Given the description of an element on the screen output the (x, y) to click on. 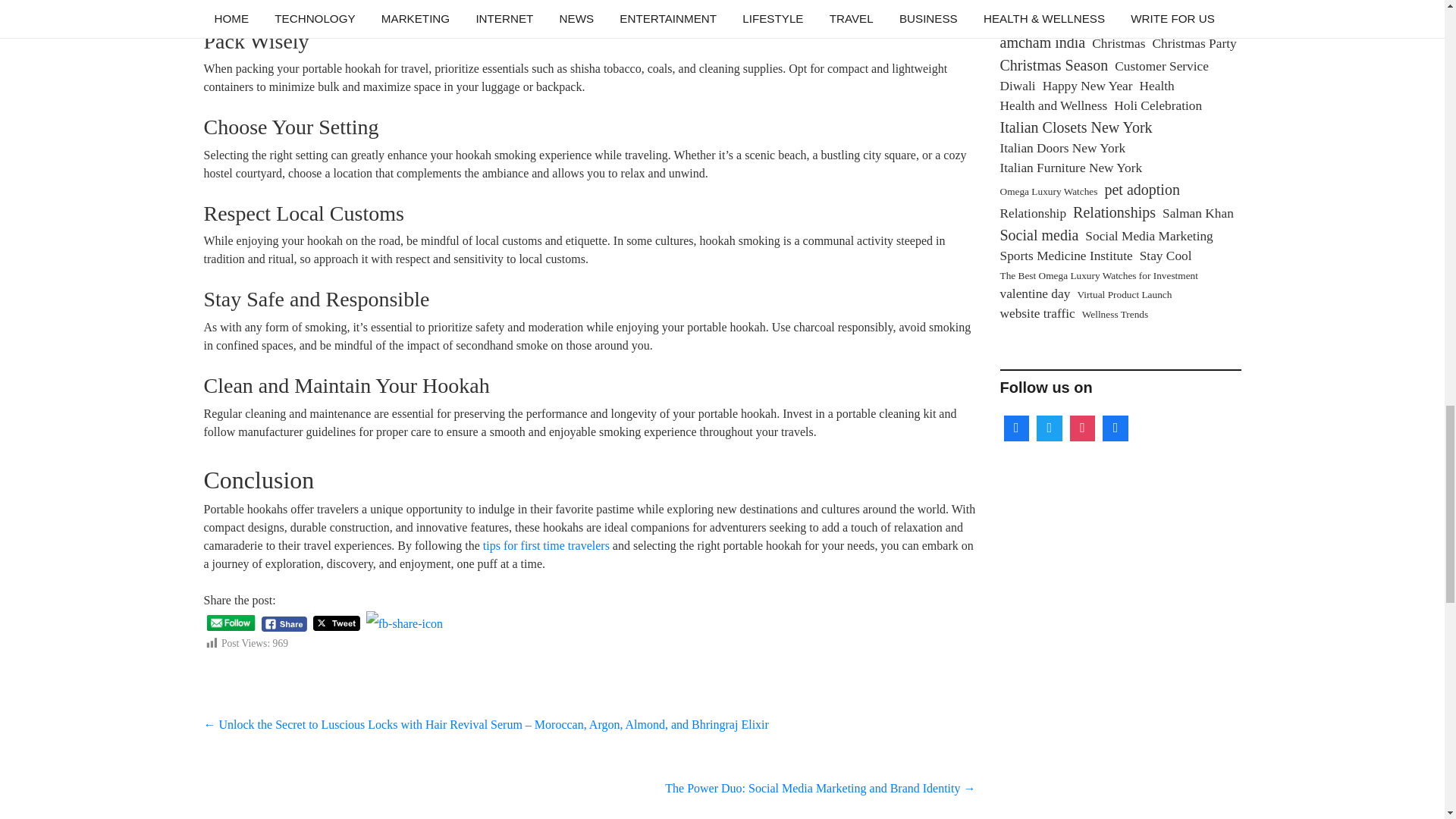
tips for first time travelers (546, 545)
Facebook Share (284, 624)
Tweet (336, 623)
